Given the description of an element on the screen output the (x, y) to click on. 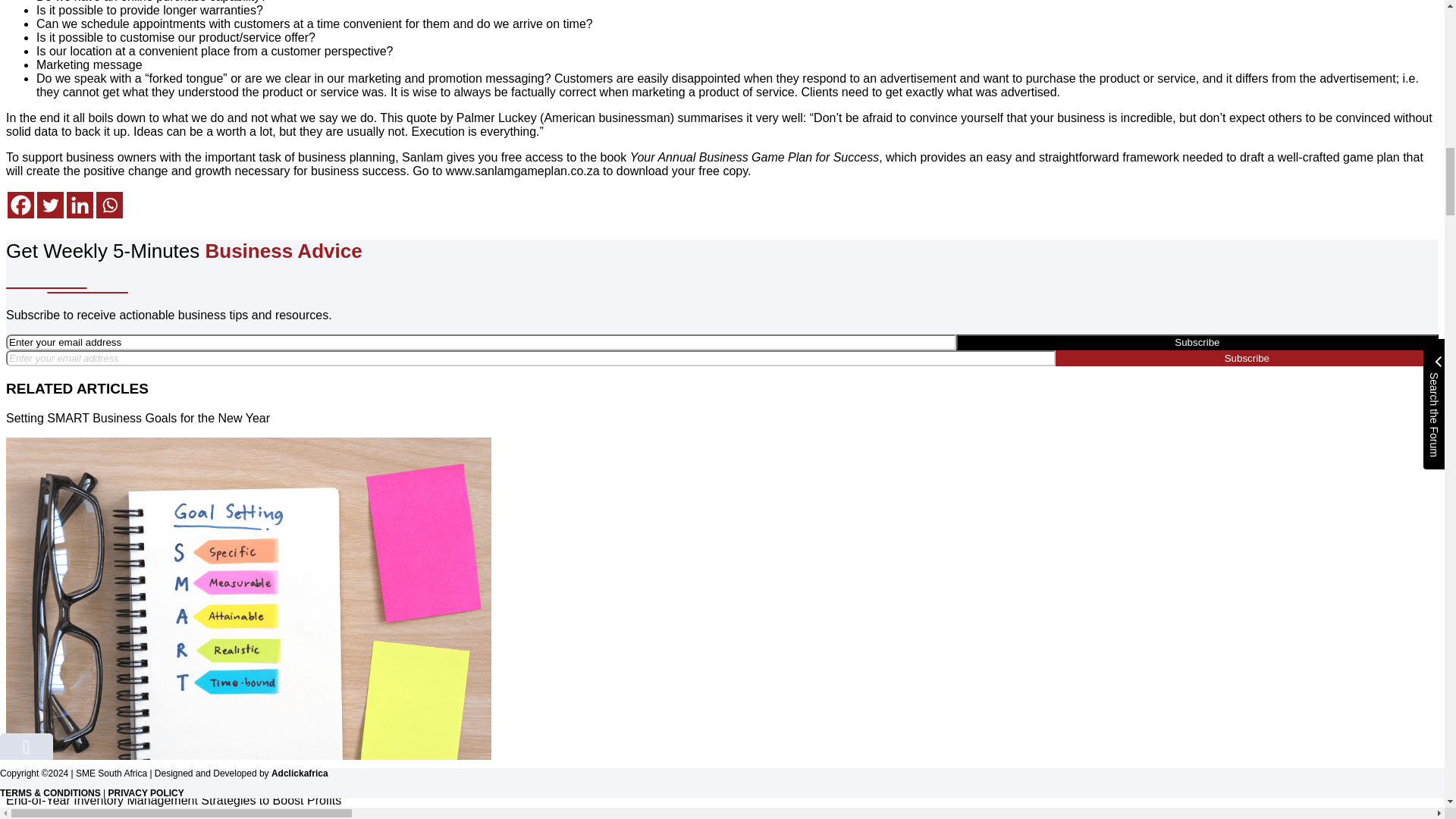
Linkedin (79, 204)
Subscribe (1246, 358)
Whatsapp (109, 204)
Facebook (20, 204)
Twitter (50, 204)
Subscribe (1197, 342)
